Given the description of an element on the screen output the (x, y) to click on. 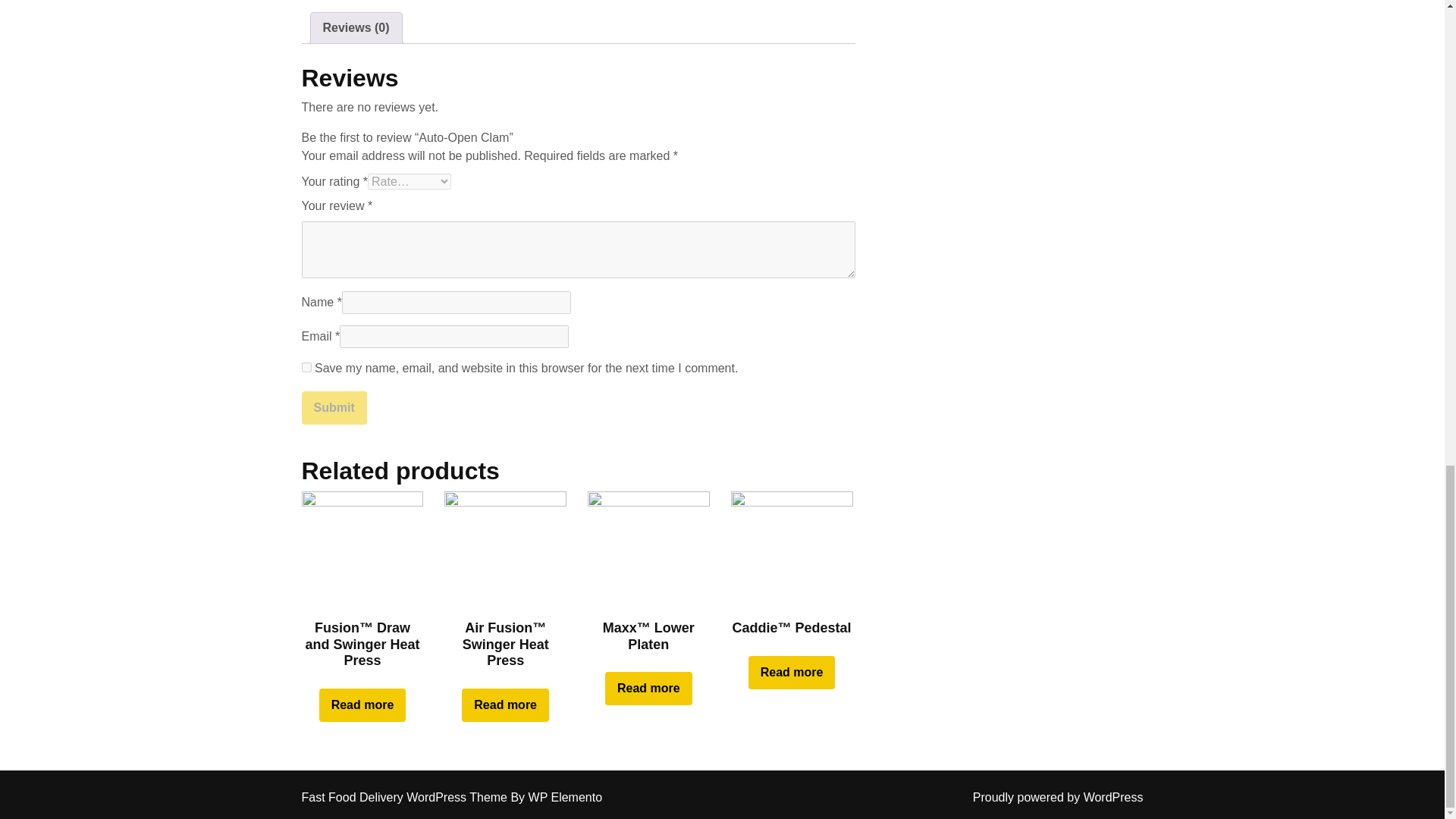
Read more (504, 704)
Submit (333, 408)
Read more (649, 688)
Read more (362, 704)
Submit (333, 408)
yes (306, 367)
